Given the description of an element on the screen output the (x, y) to click on. 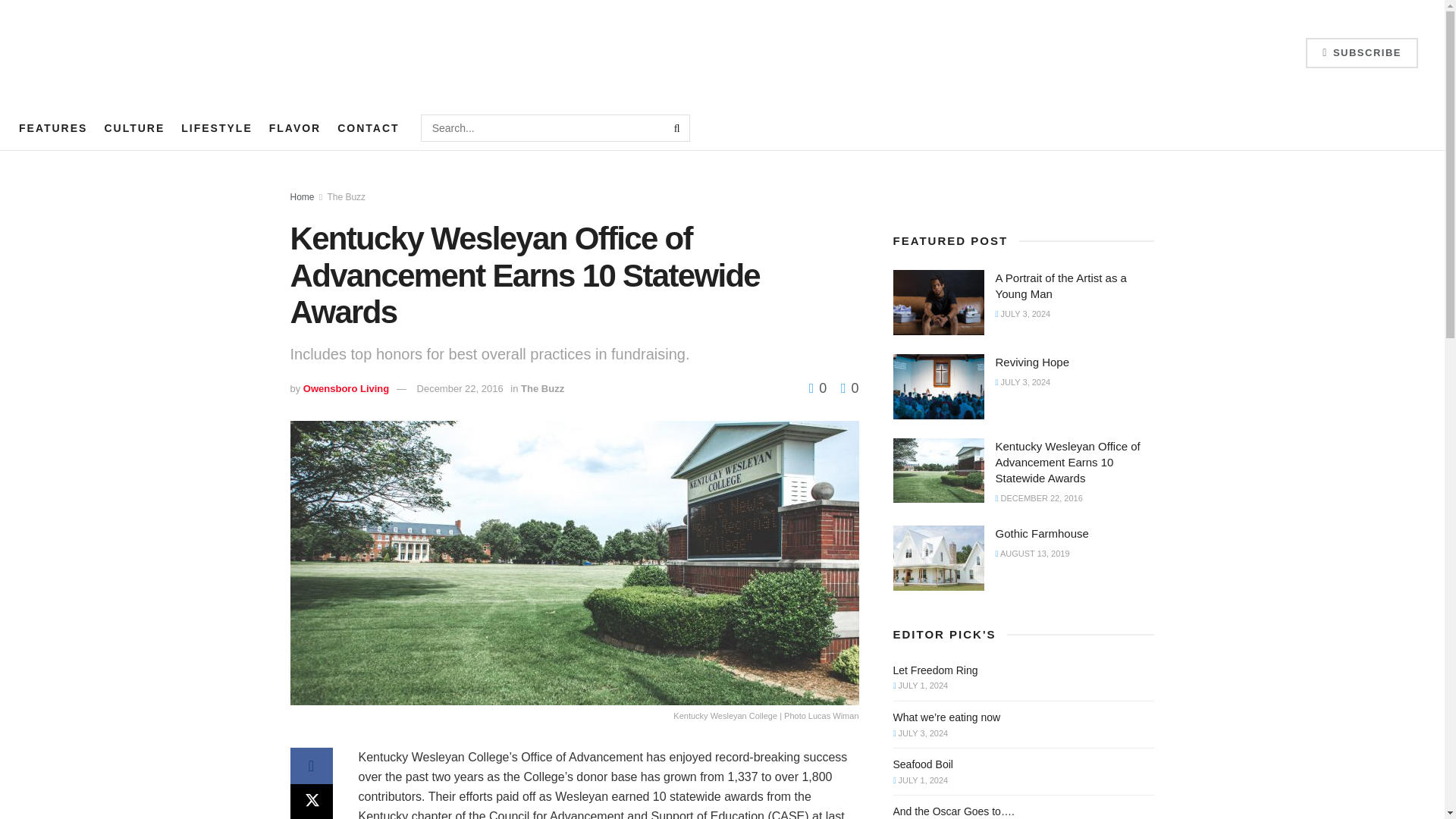
LIFESTYLE (215, 127)
The Buzz (542, 388)
FLAVOR (295, 127)
Home (301, 196)
FEATURES (52, 127)
0 (850, 387)
Owensboro Living (345, 388)
December 22, 2016 (459, 388)
SUBSCRIBE (1362, 52)
0 (818, 387)
